Given the description of an element on the screen output the (x, y) to click on. 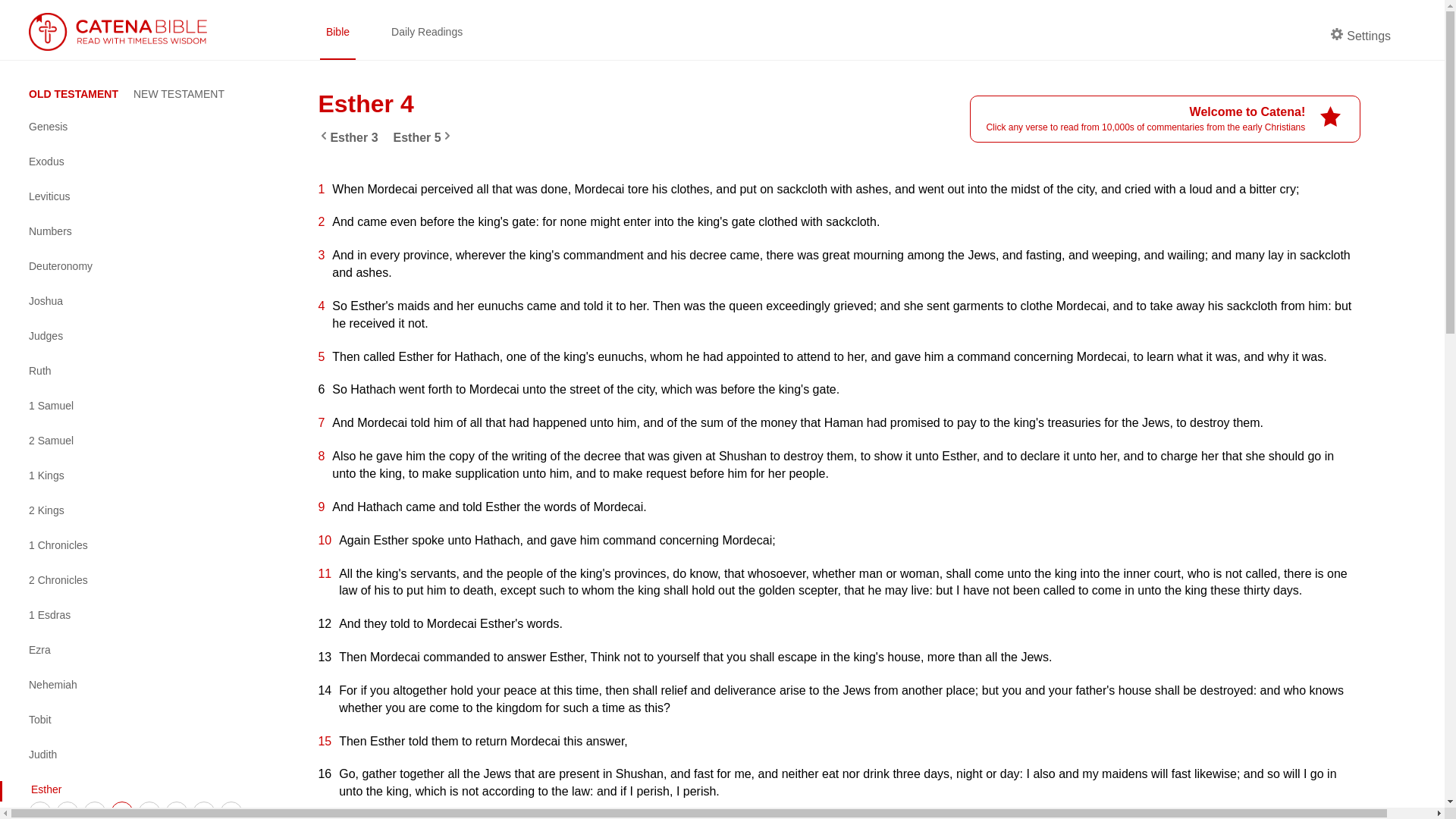
star (1330, 116)
Genesis (132, 127)
cog (1336, 33)
chevron-left (323, 135)
chevron-right (446, 135)
Daily Readings (426, 29)
